Given the description of an element on the screen output the (x, y) to click on. 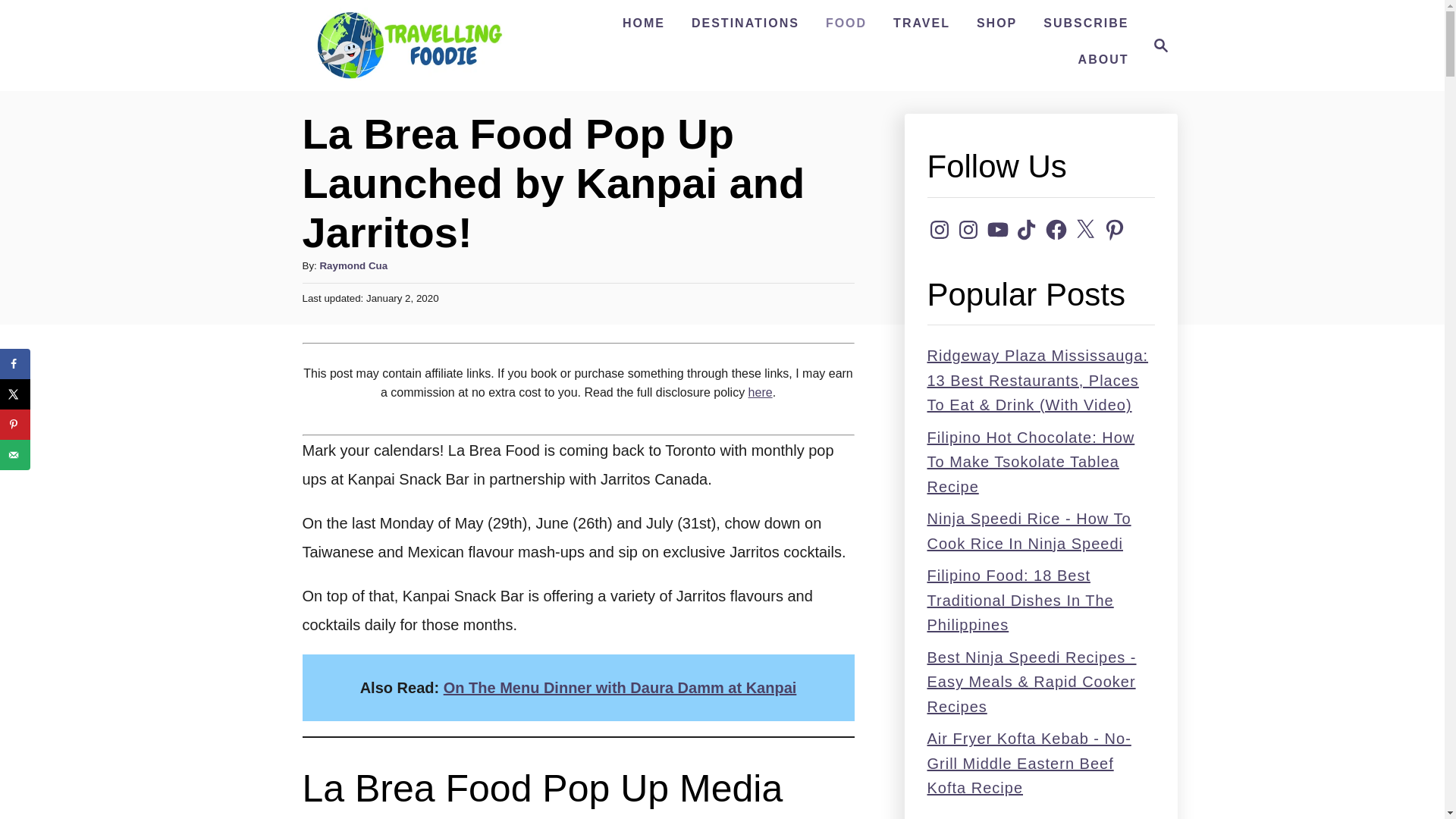
Share on Facebook (15, 363)
SHOP (997, 23)
Raymond Cua (352, 265)
FOOD (846, 23)
Share on X (15, 394)
here (760, 391)
Travelling Foodie (408, 45)
Magnifying Glass (1160, 45)
TRAVEL (921, 23)
Save to Pinterest (15, 424)
DESTINATIONS (745, 23)
On The Menu Dinner with Daura Damm at Kanpai (1155, 45)
HOME (620, 687)
Send over email (643, 23)
